Given the description of an element on the screen output the (x, y) to click on. 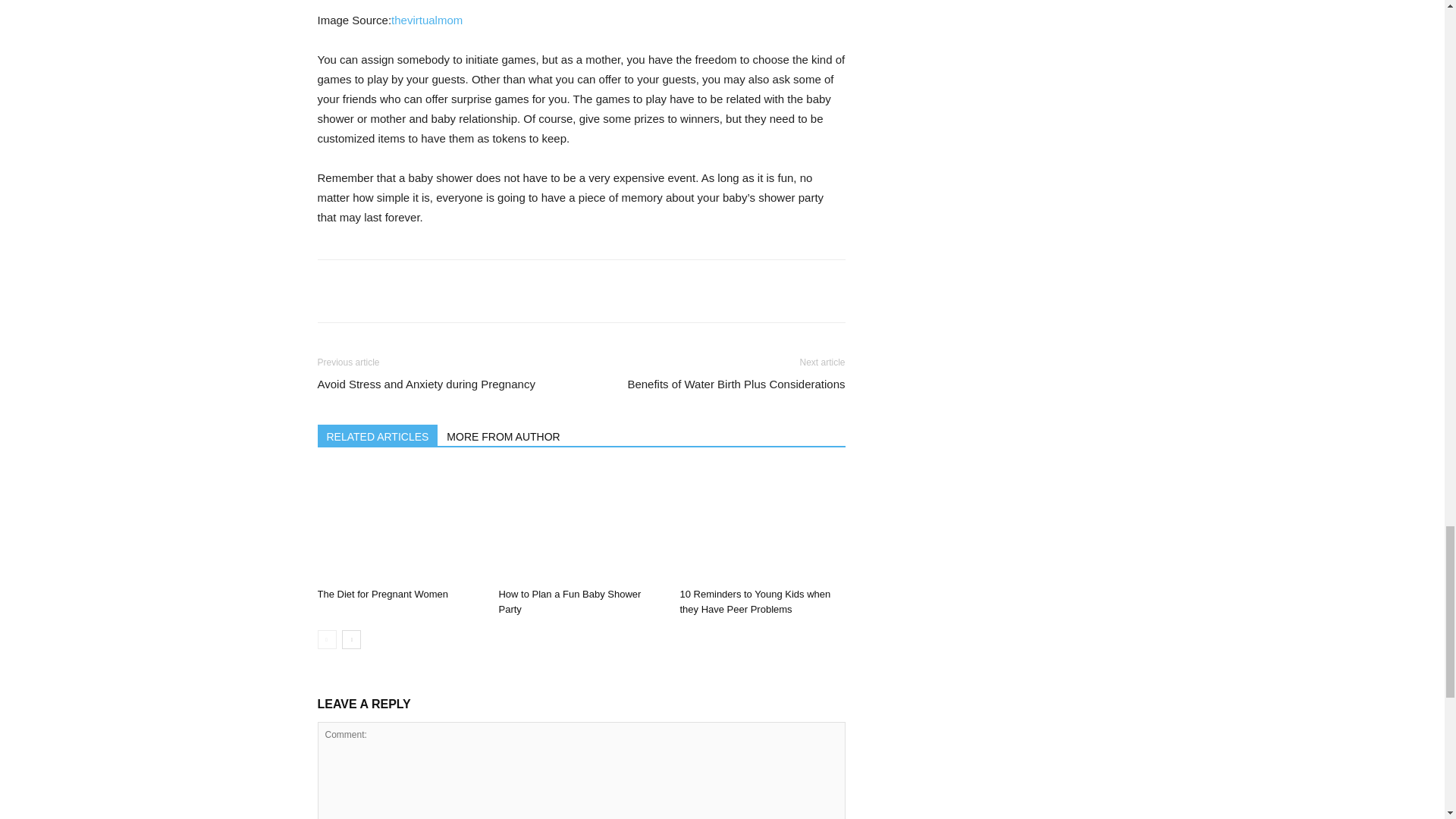
10 Reminders to Young Kids when they Have Peer Problems (754, 601)
10 Reminders to Young Kids when they Have Peer Problems (761, 524)
How to Plan a Fun Baby Shower Party (568, 601)
Benefits of Water Birth Plus Considerations (735, 383)
The Diet for Pregnant Women (381, 593)
thevirtualmom (427, 19)
Avoid Stress and Anxiety during Pregnancy (425, 383)
How to Plan a Fun Baby Shower Party (580, 524)
The Diet for Pregnant Women (399, 524)
